Given the description of an element on the screen output the (x, y) to click on. 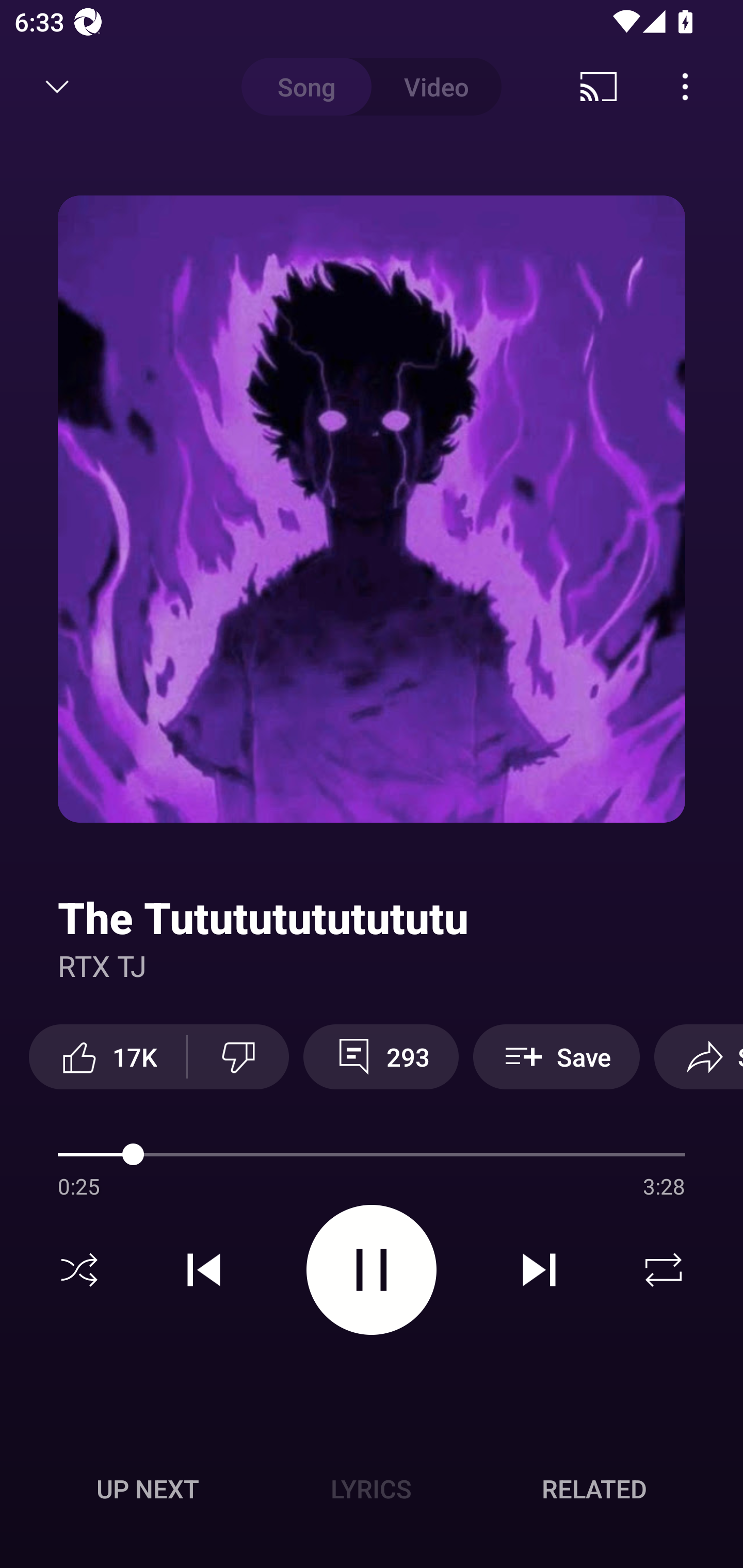
Minimize (57, 86)
Cast. Disconnected (598, 86)
Menu (684, 86)
17K like this video along with 17,363 other people (106, 1056)
Dislike (238, 1056)
293 View 293 comments (380, 1056)
Save Save to playlist (556, 1056)
Share (698, 1056)
Pause video (371, 1269)
Shuffle off (79, 1269)
Previous track (203, 1269)
Next track (538, 1269)
Repeat off (663, 1269)
Up next UP NEXT Lyrics LYRICS Related RELATED (371, 1491)
Lyrics LYRICS (370, 1488)
Related RELATED (594, 1488)
